Given the description of an element on the screen output the (x, y) to click on. 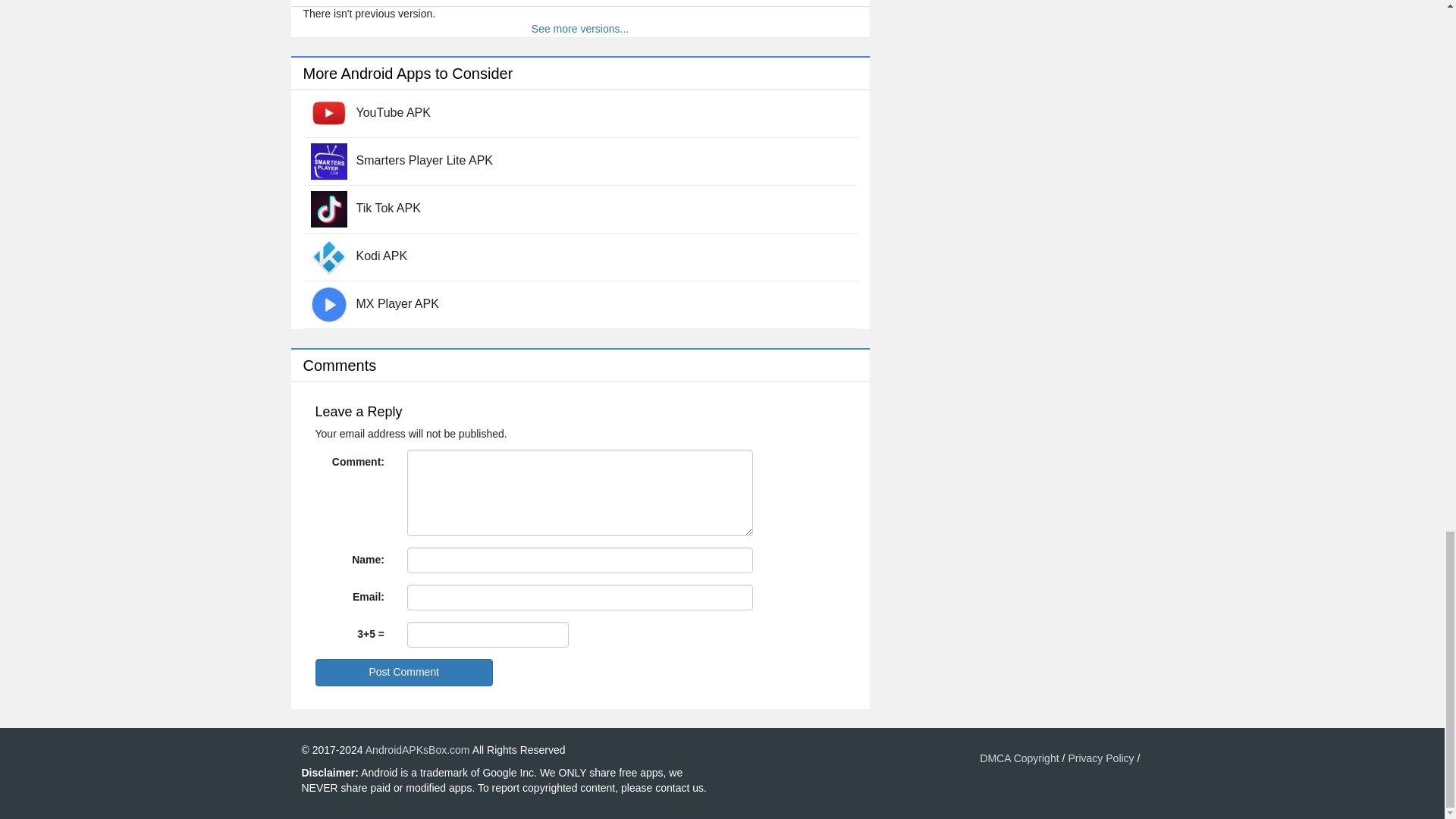
Tik Tok Latest Version 34.9.4 APK Download (329, 207)
Smarters Player Lite APK (424, 160)
MX Player Latest Version 1.85.6 APK Download (329, 303)
YouTube APK (393, 112)
YouTube Latest Version 19.16.39 APK Download (393, 112)
MX Player Latest Version 1.85.6 APK Download (397, 303)
See more versions... (579, 28)
Smarters Player Lite Latest Version 5.1 APK Download (424, 160)
Tik Tok Latest Version 34.9.4 APK Download (388, 207)
Kodi APK (381, 255)
